Given the description of an element on the screen output the (x, y) to click on. 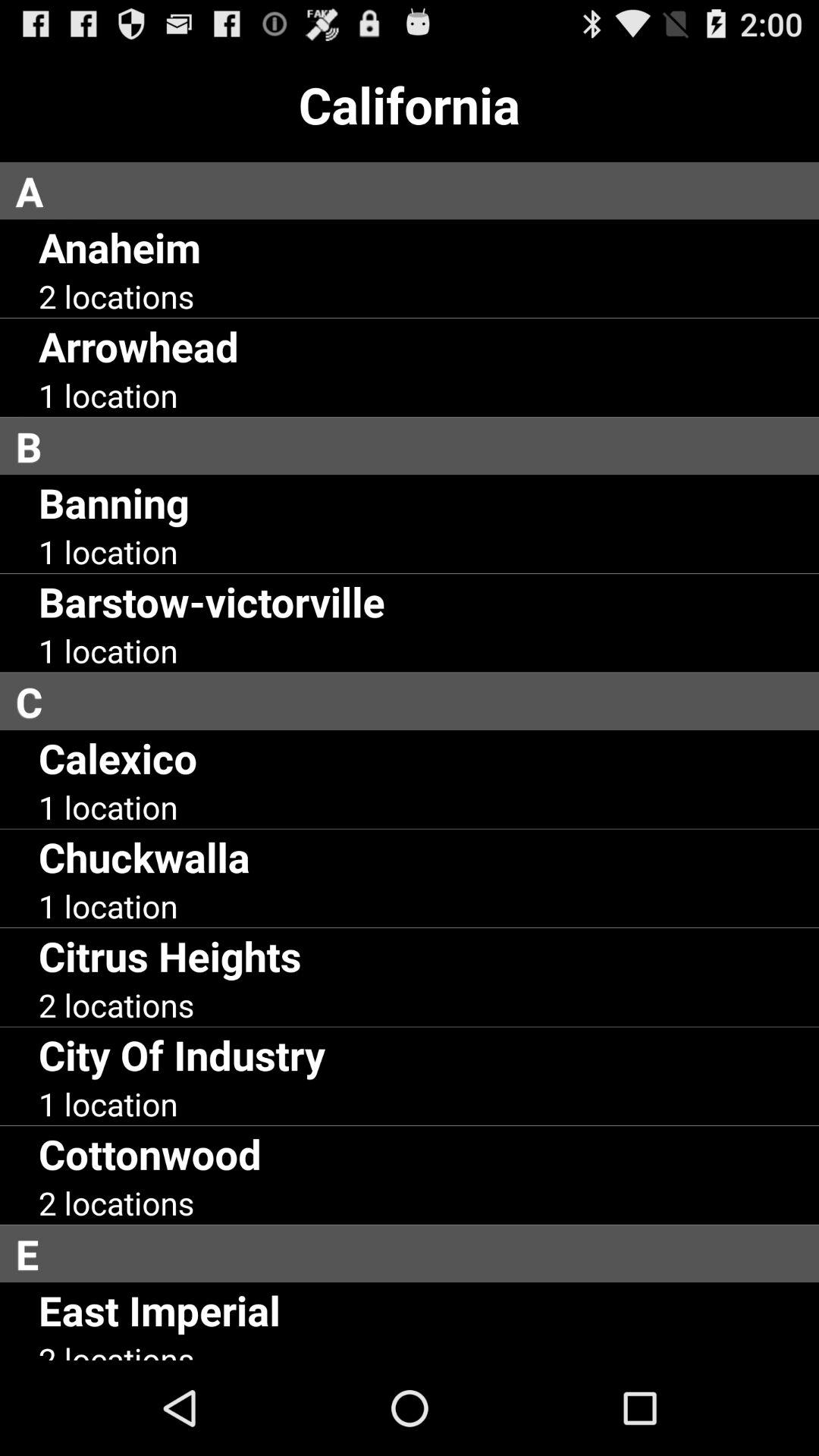
press item above calexico app (417, 701)
